Given the description of an element on the screen output the (x, y) to click on. 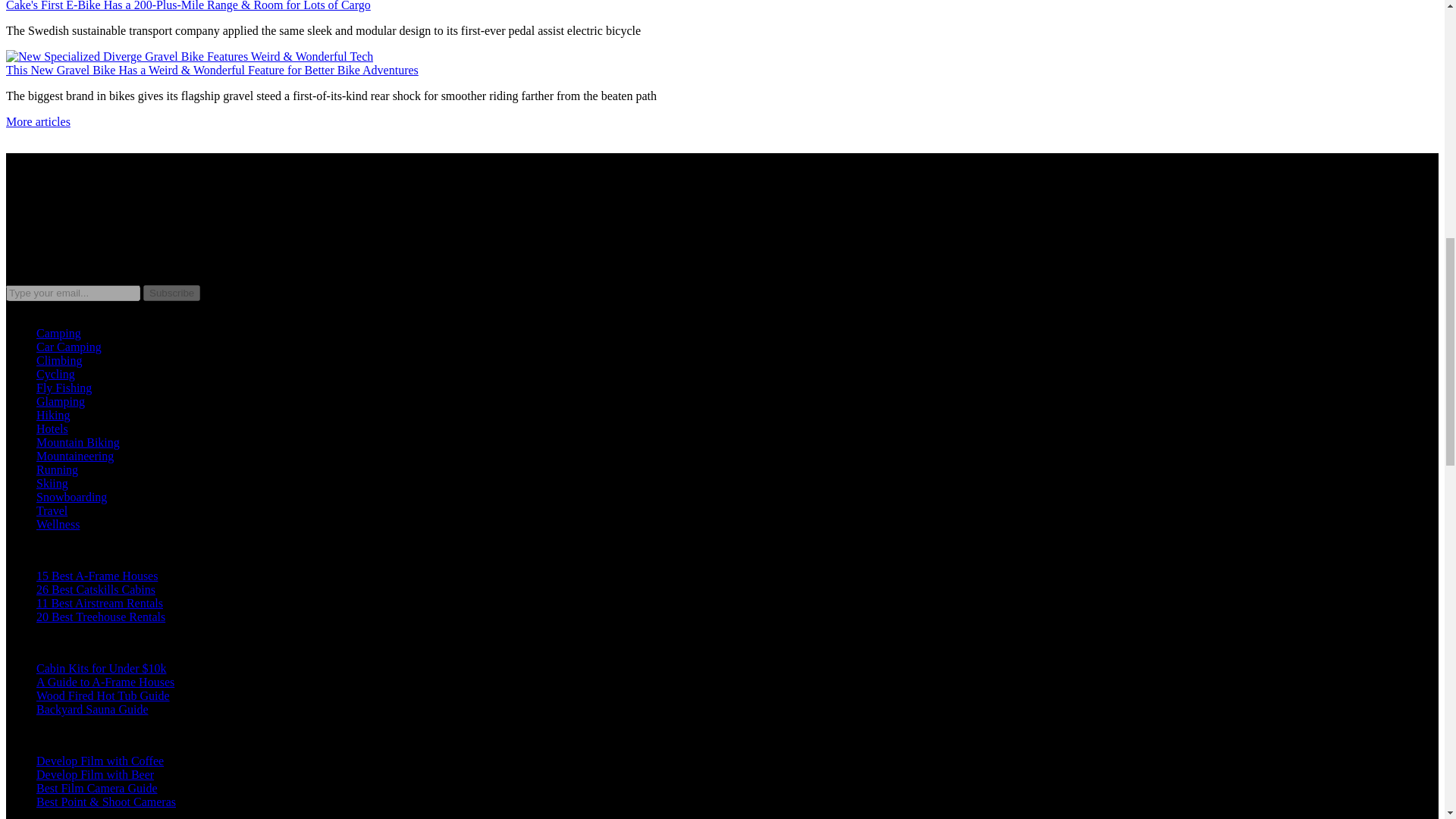
Car Camping (68, 346)
More articles (37, 121)
Camping (58, 332)
Subscribe (171, 293)
Climbing (58, 359)
